Given the description of an element on the screen output the (x, y) to click on. 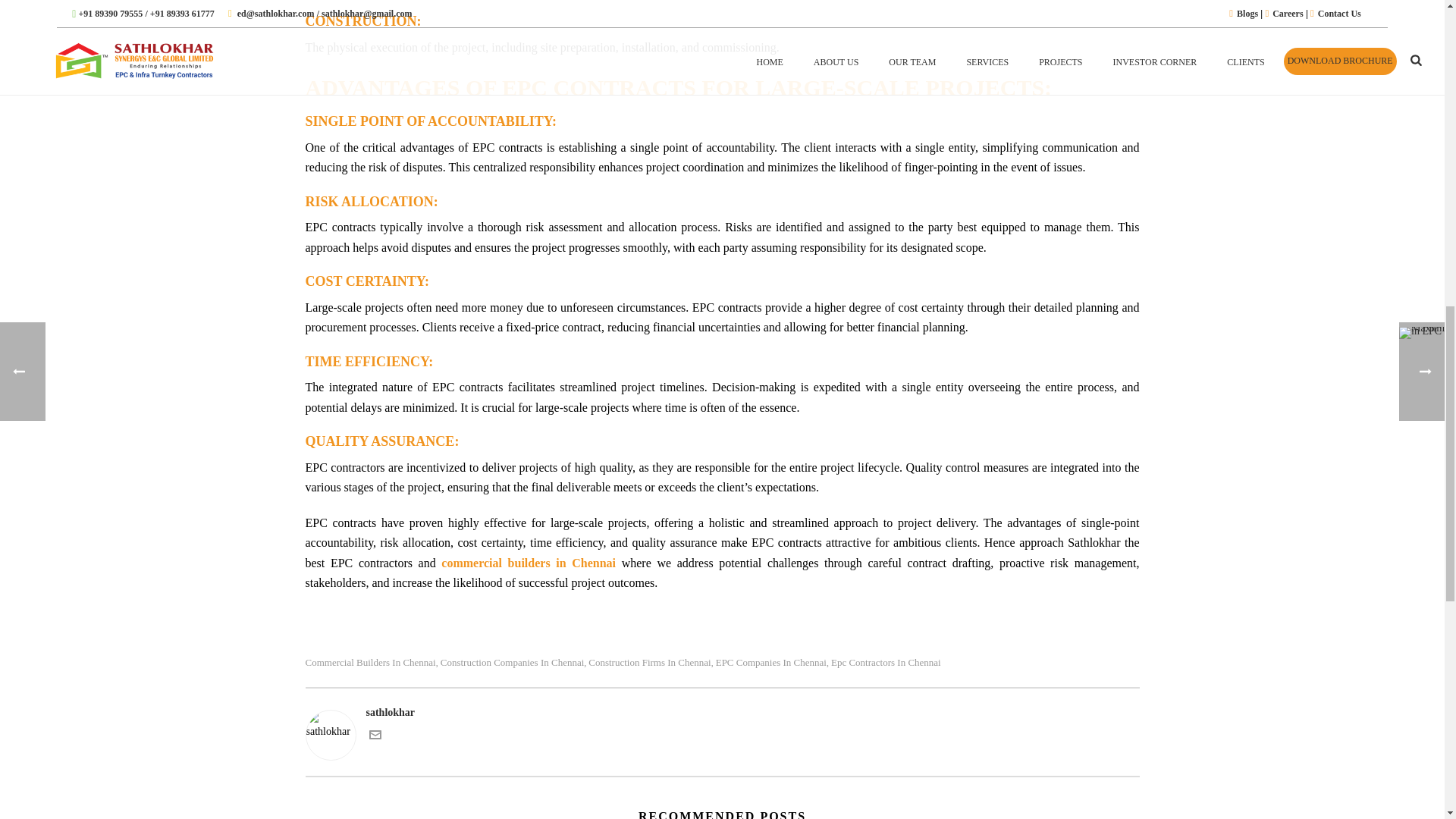
Get in touch with me via email (374, 737)
